Given the description of an element on the screen output the (x, y) to click on. 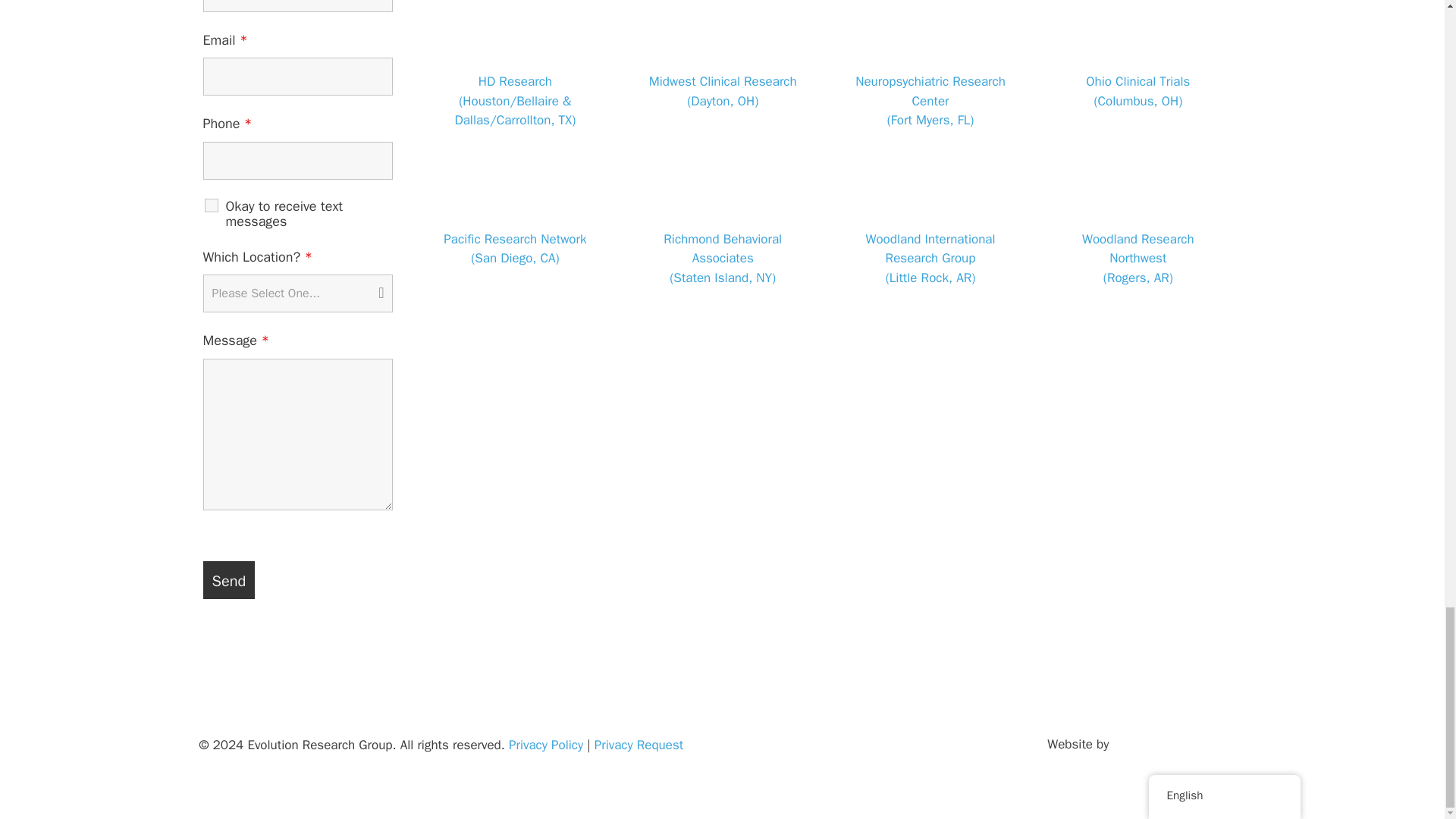
Send (229, 579)
